Given the description of an element on the screen output the (x, y) to click on. 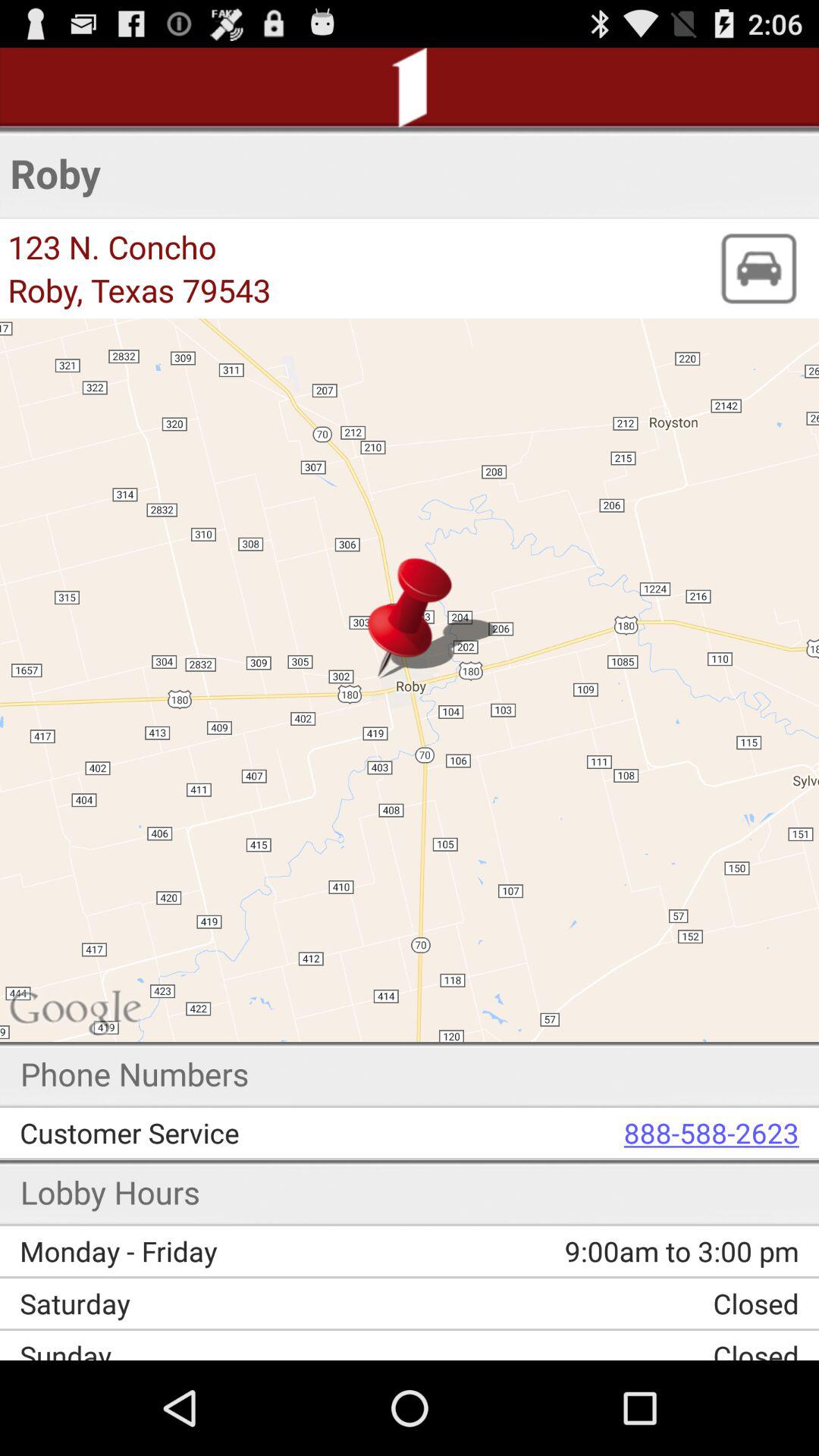
get driving directions (757, 268)
